Given the description of an element on the screen output the (x, y) to click on. 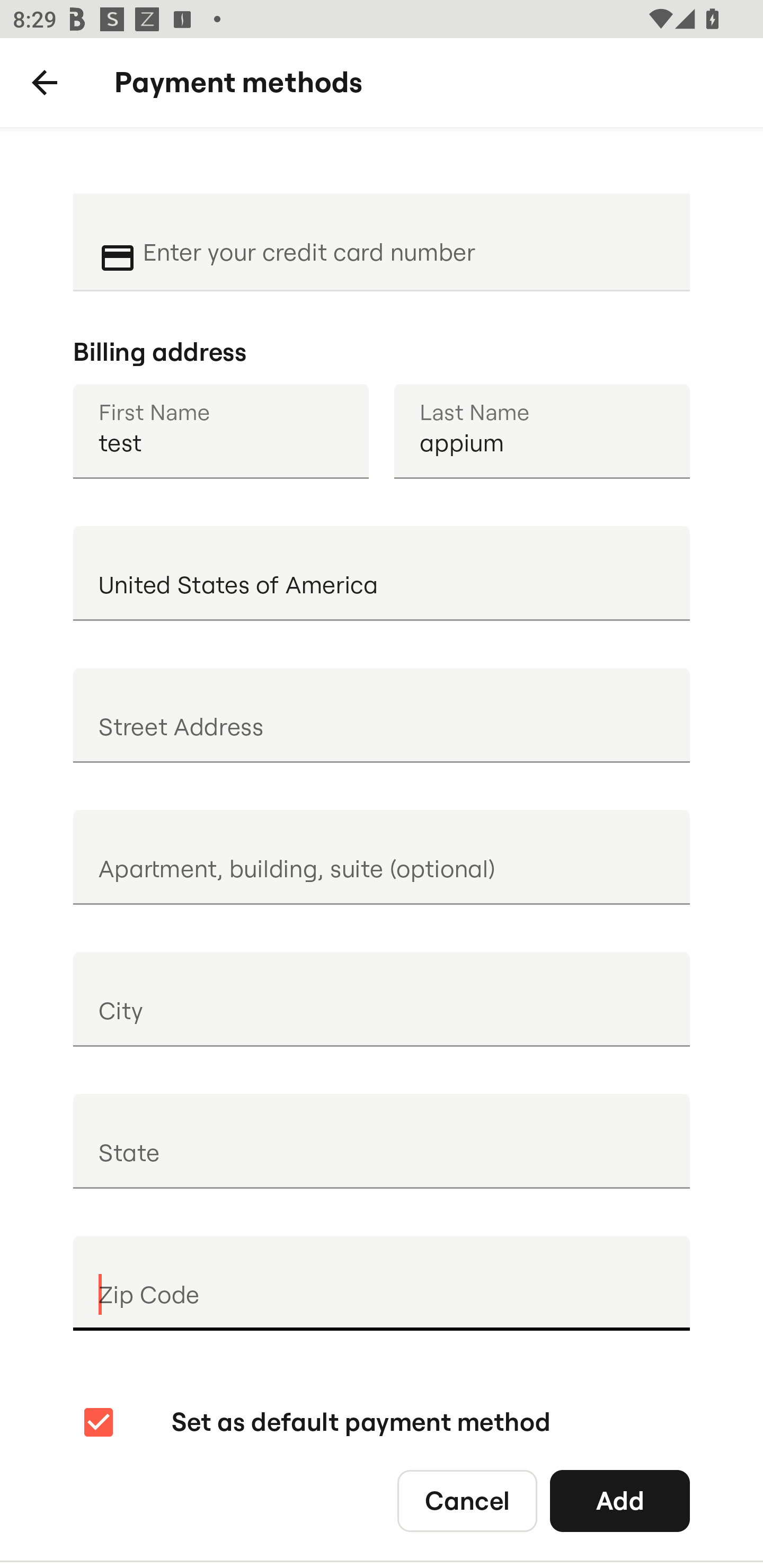
Back (44, 82)
Enter your credit card number (403, 240)
test (220, 431)
appium (541, 431)
United States of America (381, 572)
Street Address (381, 714)
Apartment, building, suite (optional) (381, 857)
City (381, 999)
State (381, 1141)
Zip Code (381, 1283)
Set as default payment method (314, 1421)
Cancel (467, 1500)
Add (619, 1500)
